Given the description of an element on the screen output the (x, y) to click on. 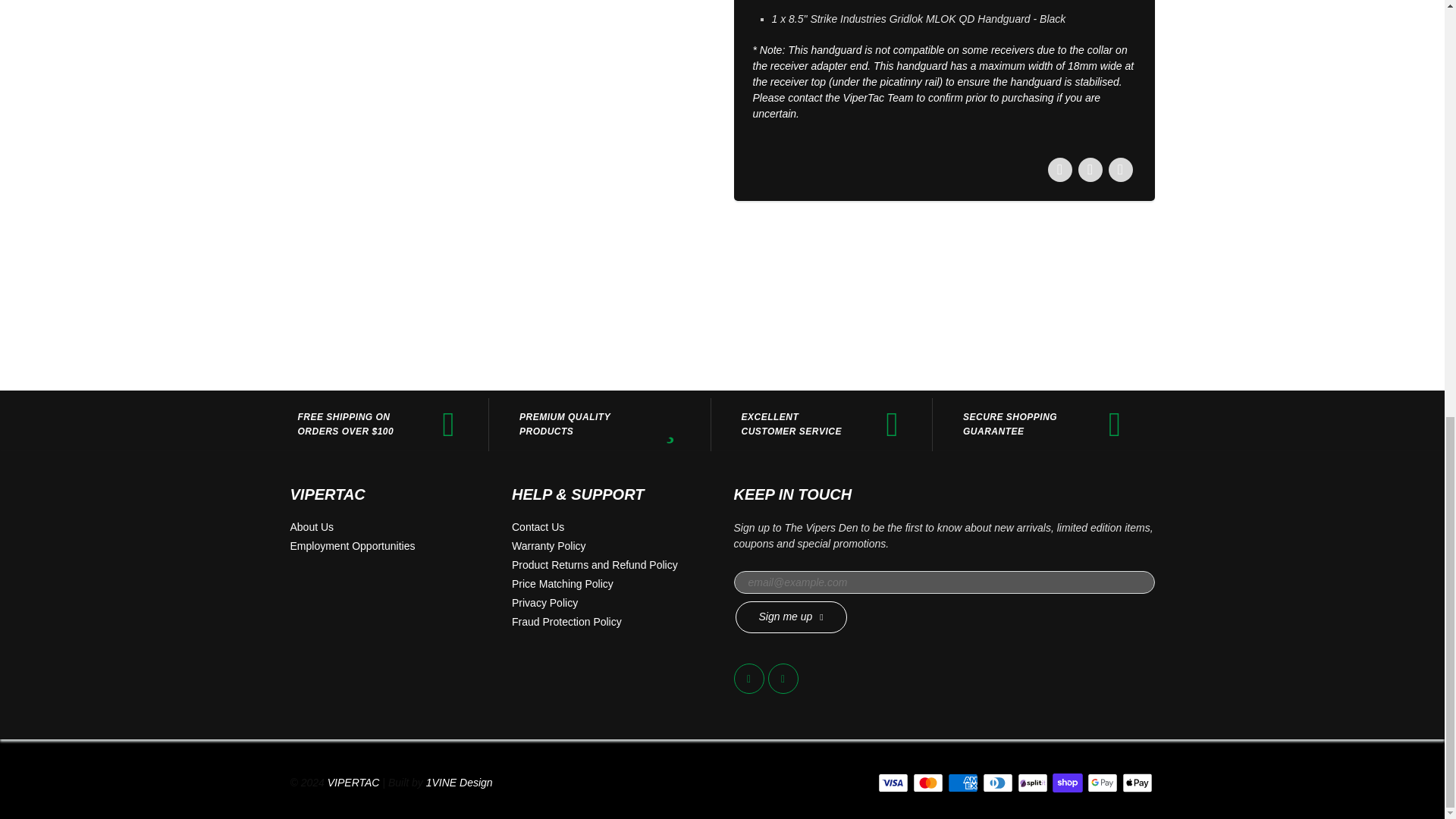
American Express (962, 782)
Google Pay (1102, 782)
Mastercard (927, 782)
Visa (892, 782)
Shop Pay (1067, 782)
Instagram (782, 678)
Diners Club (997, 782)
Facebook (748, 678)
Splitit (1032, 782)
Apple Pay (1137, 782)
